Given the description of an element on the screen output the (x, y) to click on. 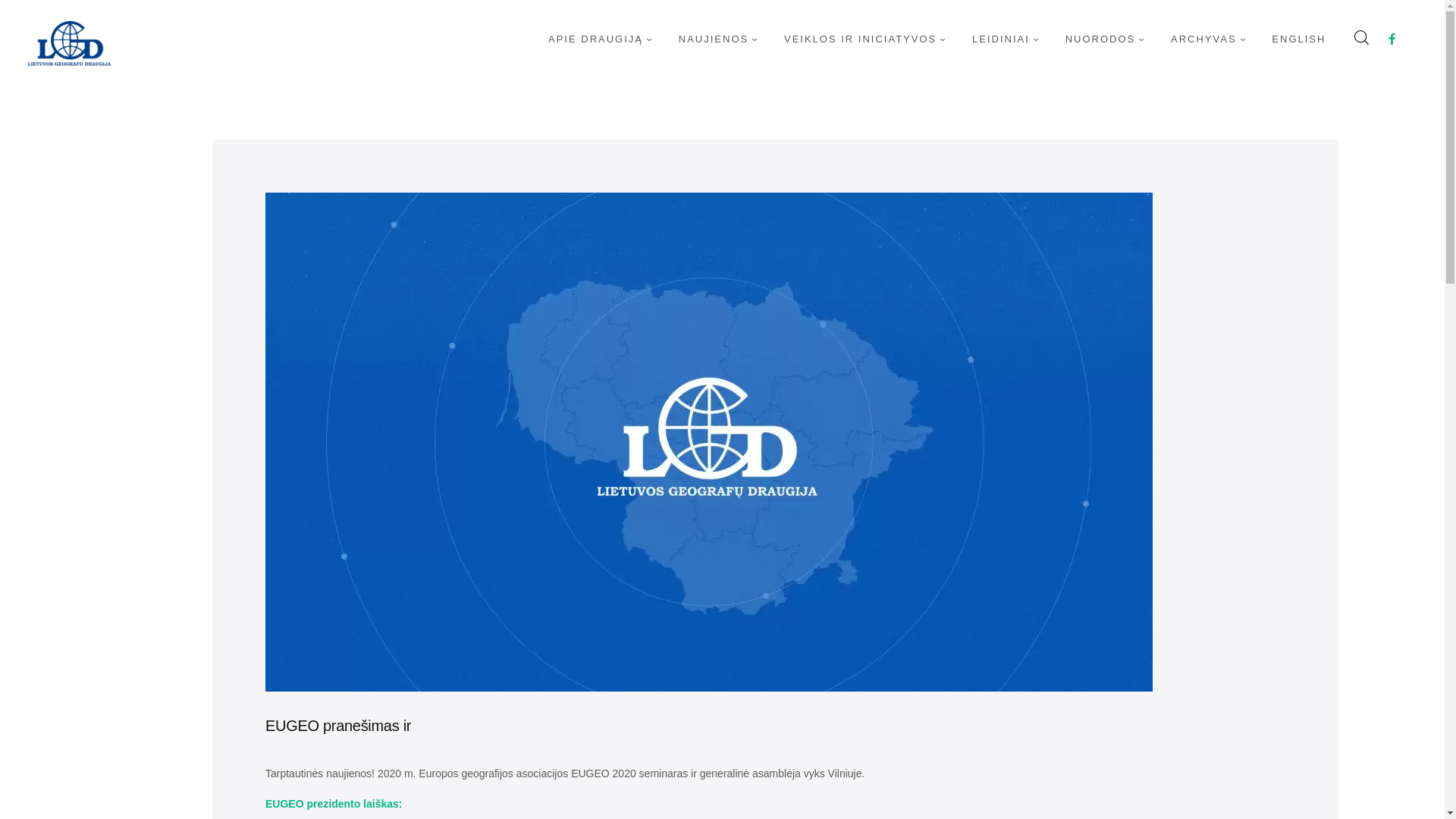
VEIKLOS IR INICIATYVOS (862, 38)
NAUJIENOS (715, 38)
ARCHYVAS (1204, 38)
LEIDINIAI (1002, 38)
NUORODOS (1101, 38)
